Given the description of an element on the screen output the (x, y) to click on. 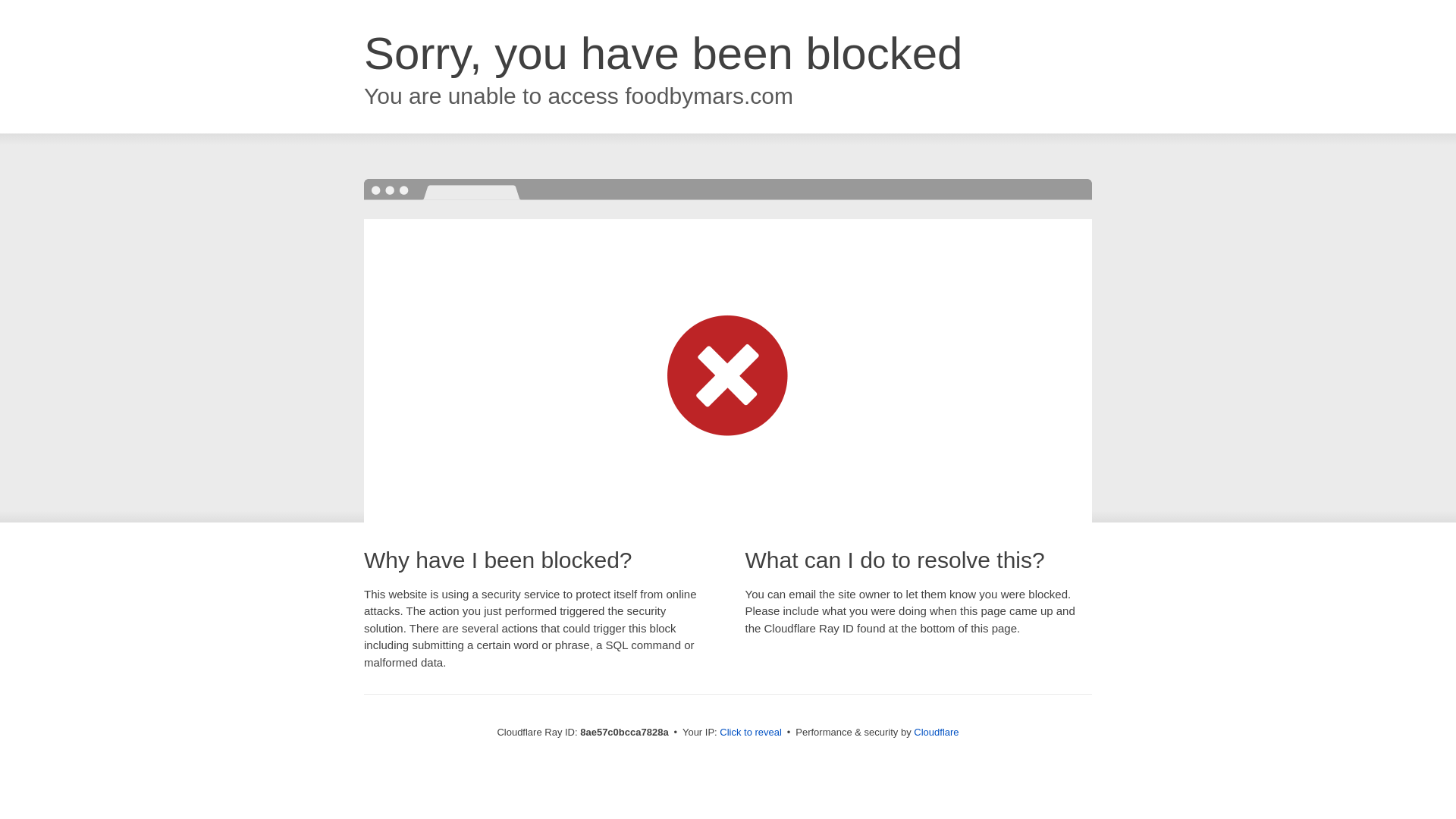
Click to reveal (750, 732)
Cloudflare (936, 731)
